Given the description of an element on the screen output the (x, y) to click on. 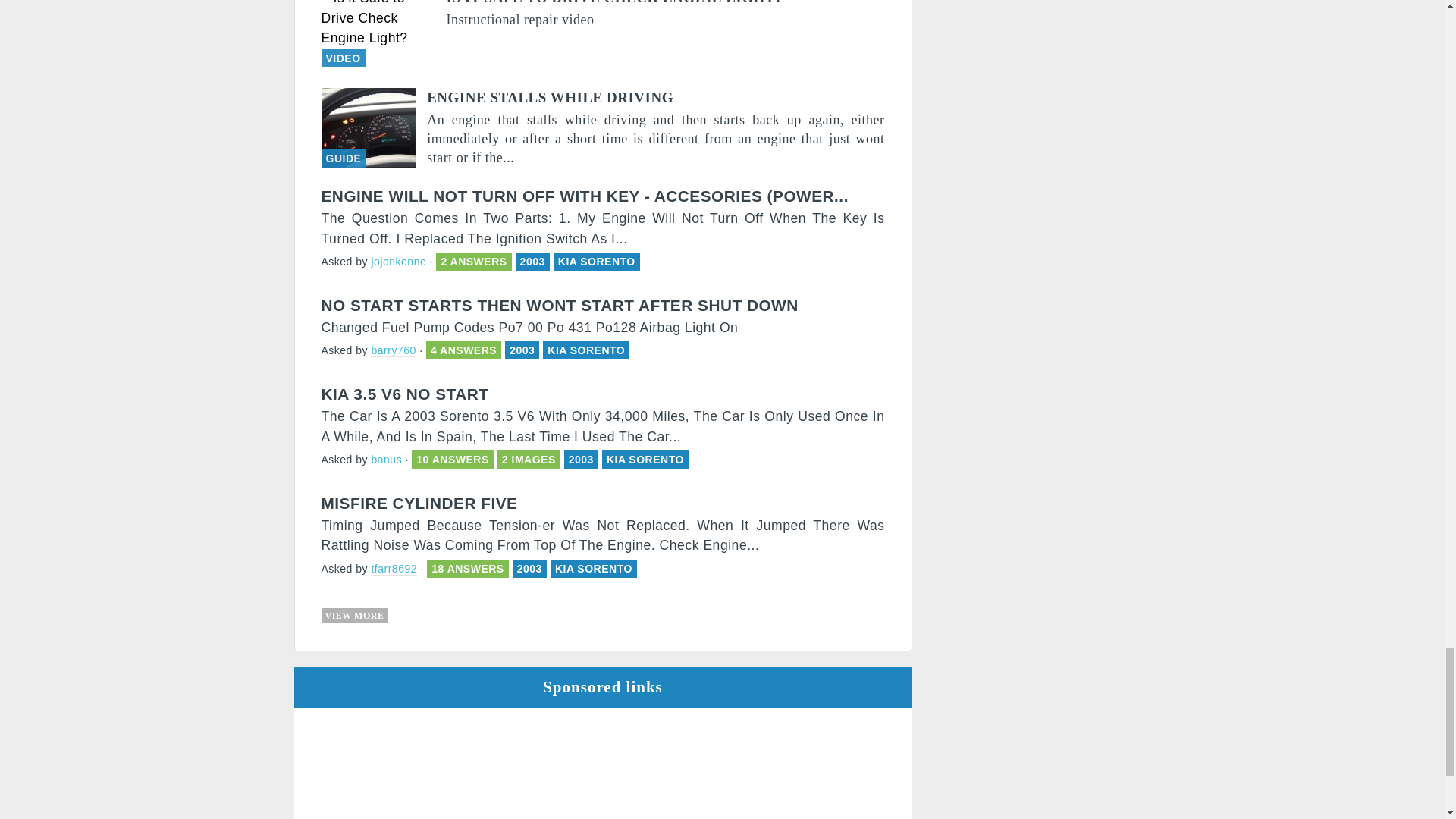
Engine Stalls While Driving (603, 127)
